Given the description of an element on the screen output the (x, y) to click on. 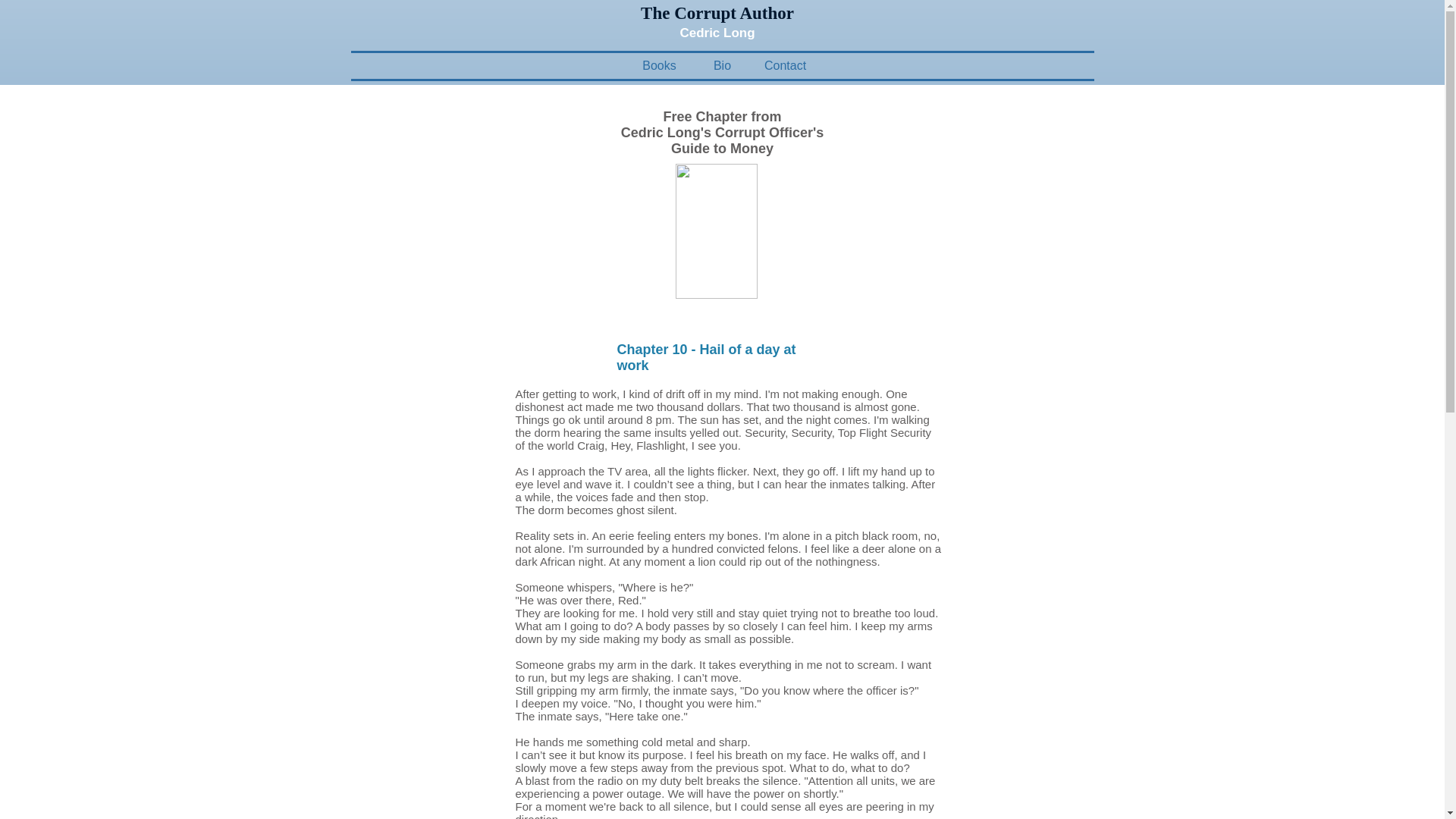
Contact (785, 65)
Bio (722, 65)
Books (658, 65)
